Given the description of an element on the screen output the (x, y) to click on. 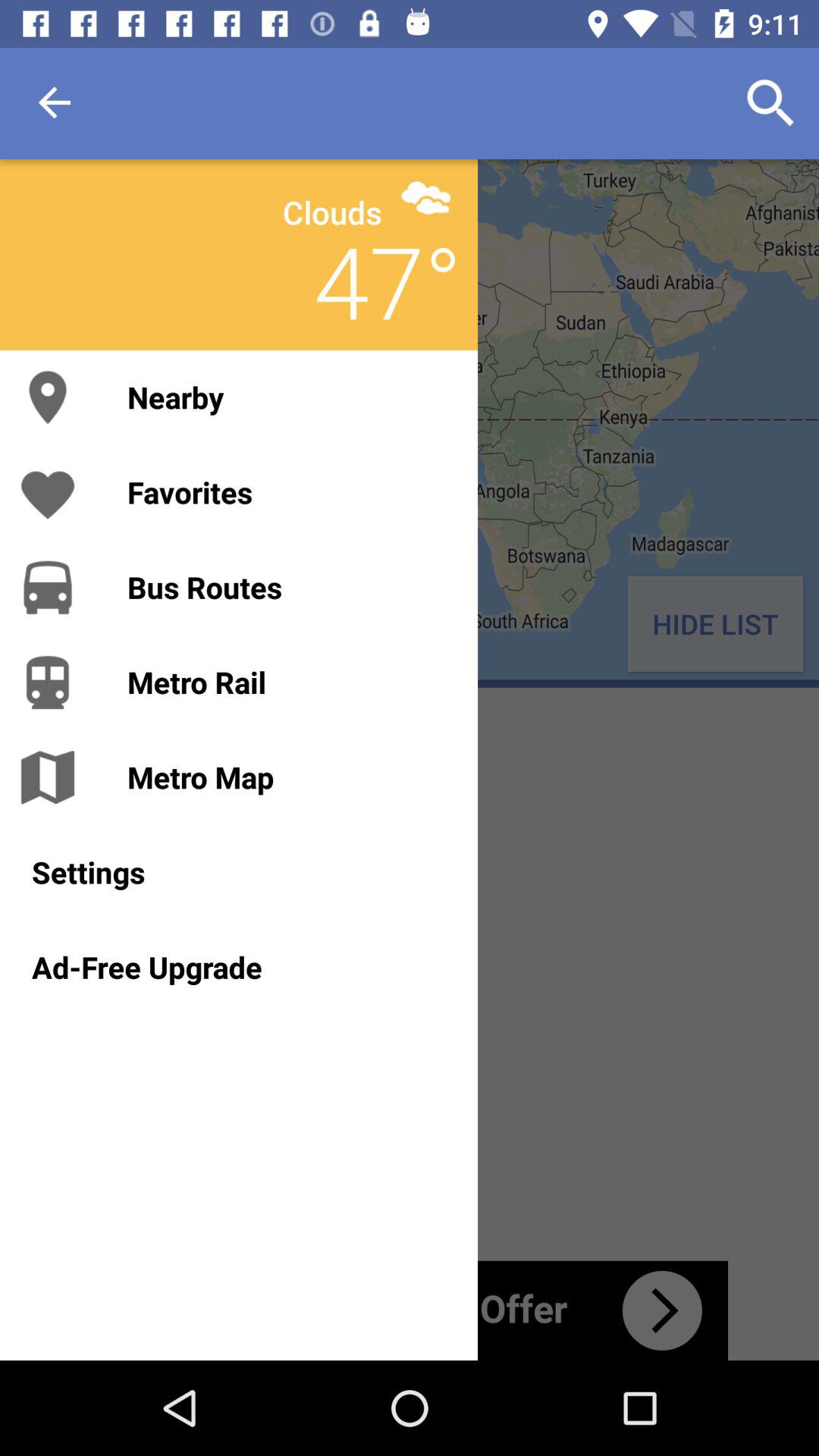
launch metro map icon (286, 777)
